Given the description of an element on the screen output the (x, y) to click on. 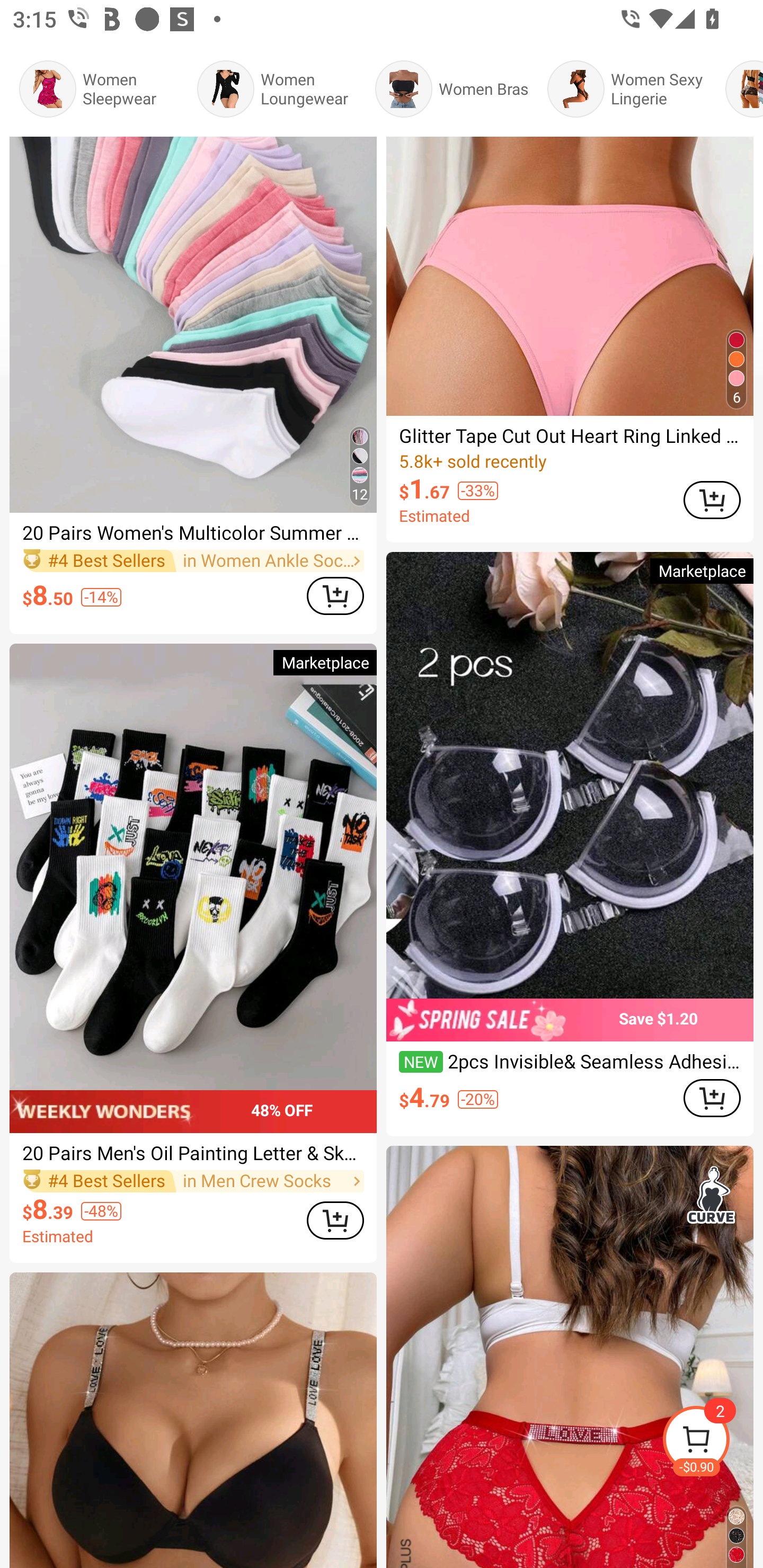
Women Sleepwear (98, 89)
Women Loungewear (276, 89)
Women Bras (451, 89)
Women Sexy Lingerie (626, 89)
ADD TO CART (711, 500)
#4 Best Sellers in Women Ankle Socks (192, 560)
ADD TO CART (334, 595)
ADD TO CART (711, 1097)
#4 Best Sellers in Men Crew Socks (192, 1180)
ADD TO CART (334, 1220)
-$0.90 (712, 1441)
